Given the description of an element on the screen output the (x, y) to click on. 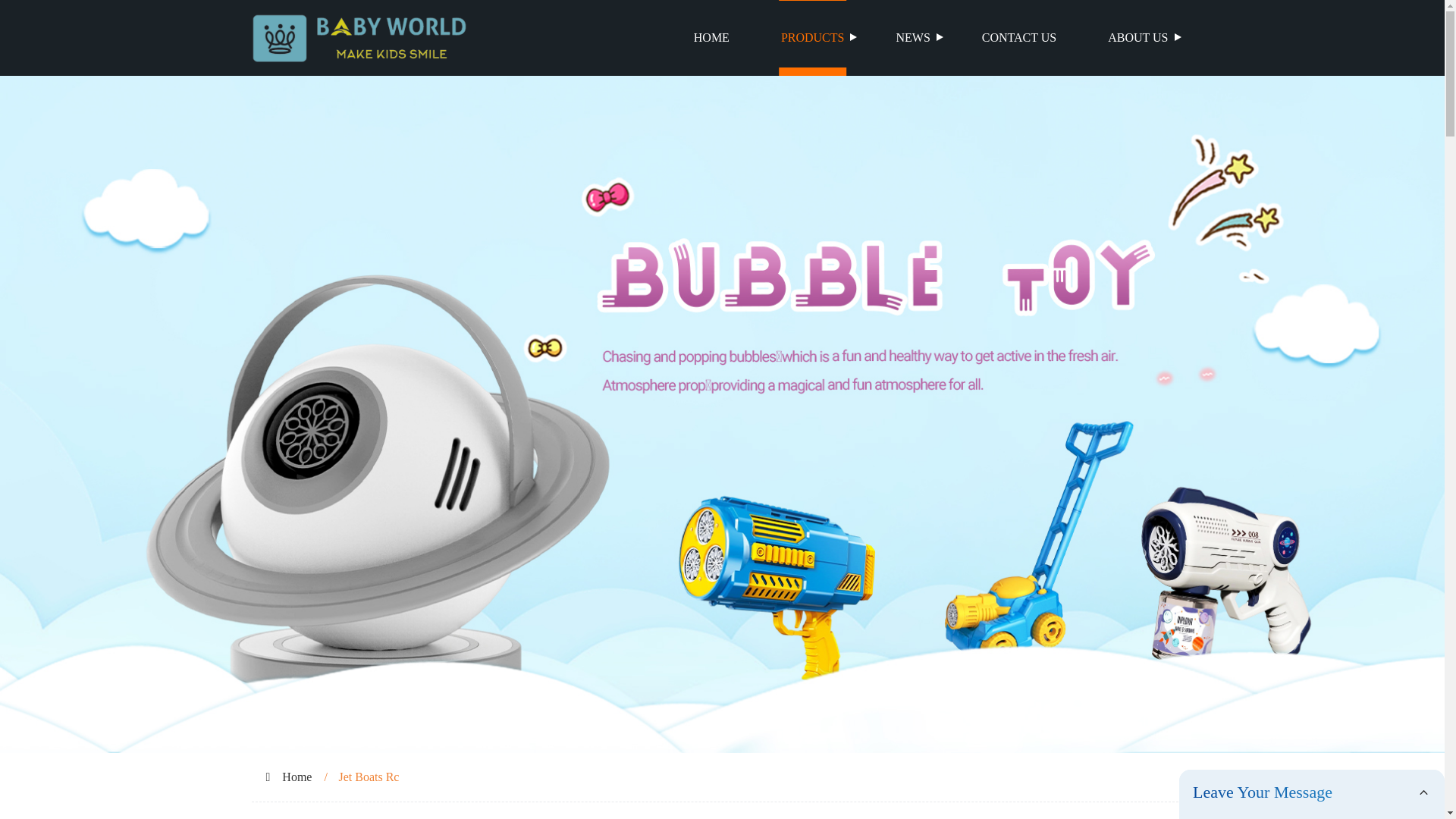
Home (296, 776)
PRODUCTS (812, 38)
CONTACT US (1018, 38)
